Given the description of an element on the screen output the (x, y) to click on. 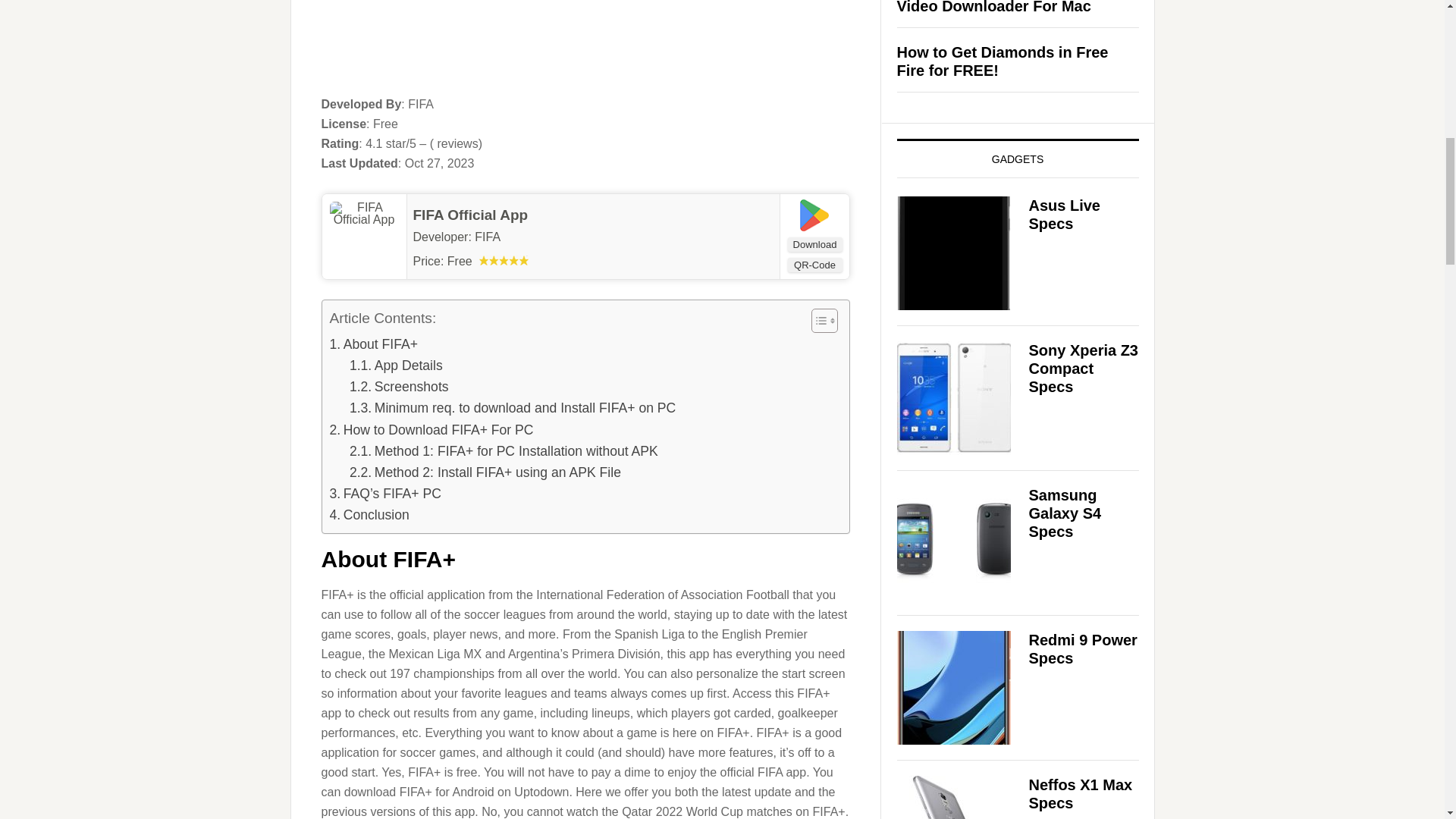
Advertisement (585, 47)
Screenshots (398, 386)
5 of 5 stars (503, 260)
Conclusion (369, 514)
FIFA Official App (469, 214)
Screenshots (398, 386)
FIFA (487, 236)
App Details (395, 364)
FIFA Official App (469, 214)
Conclusion (369, 514)
App Details (395, 364)
Download (814, 244)
